Given the description of an element on the screen output the (x, y) to click on. 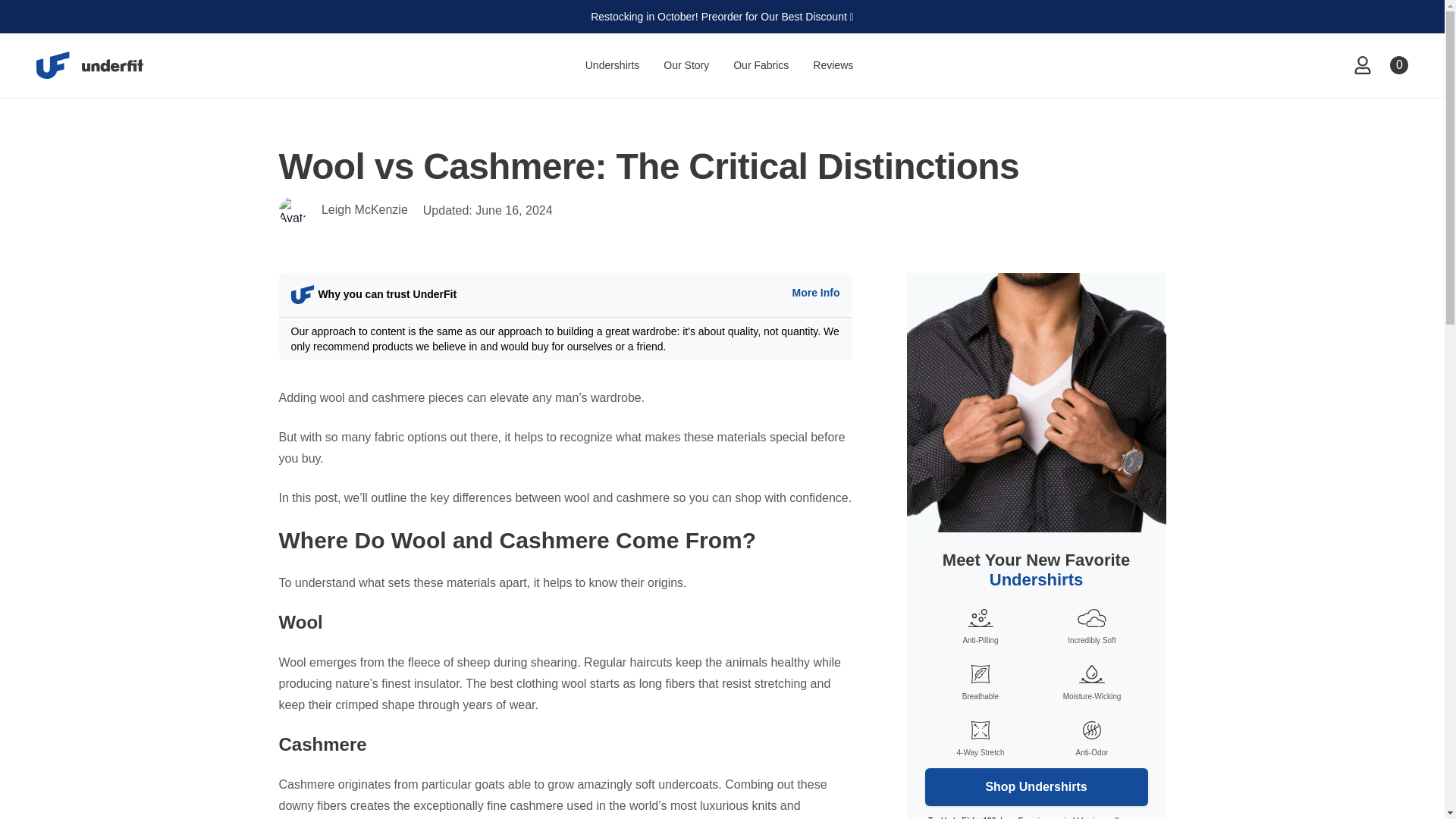
Reviews (832, 64)
Account Modal (1362, 65)
Shop Undershirts (1036, 786)
Undershirts (612, 64)
Our Fabrics (760, 64)
Our Story (685, 64)
Leigh McKenzie (364, 209)
0 (1398, 65)
More Info (816, 292)
